Given the description of an element on the screen output the (x, y) to click on. 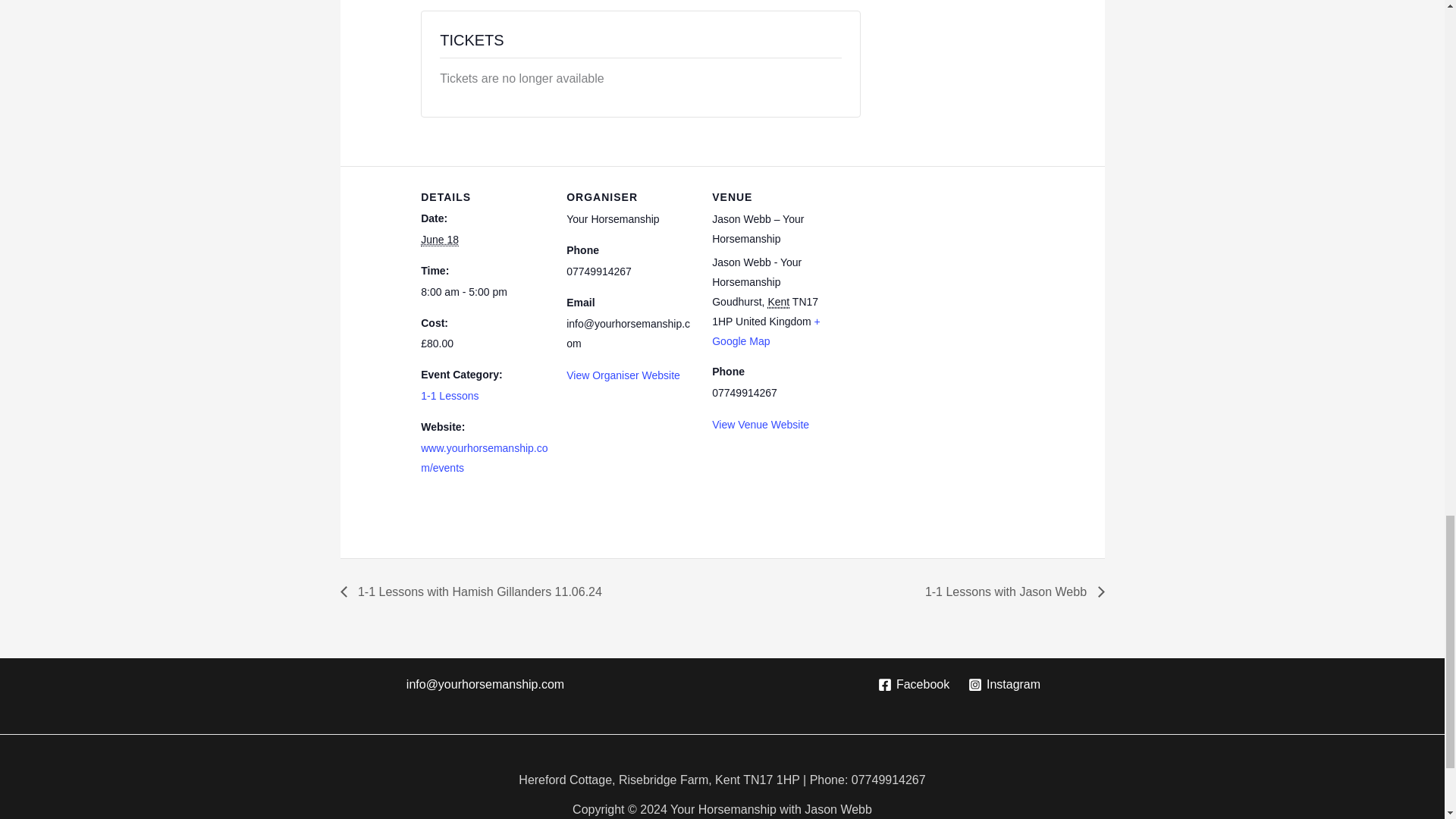
Kent (778, 301)
2024-06-18 (484, 292)
Click to view a Google Map (766, 331)
2024-06-18 (439, 239)
